Given the description of an element on the screen output the (x, y) to click on. 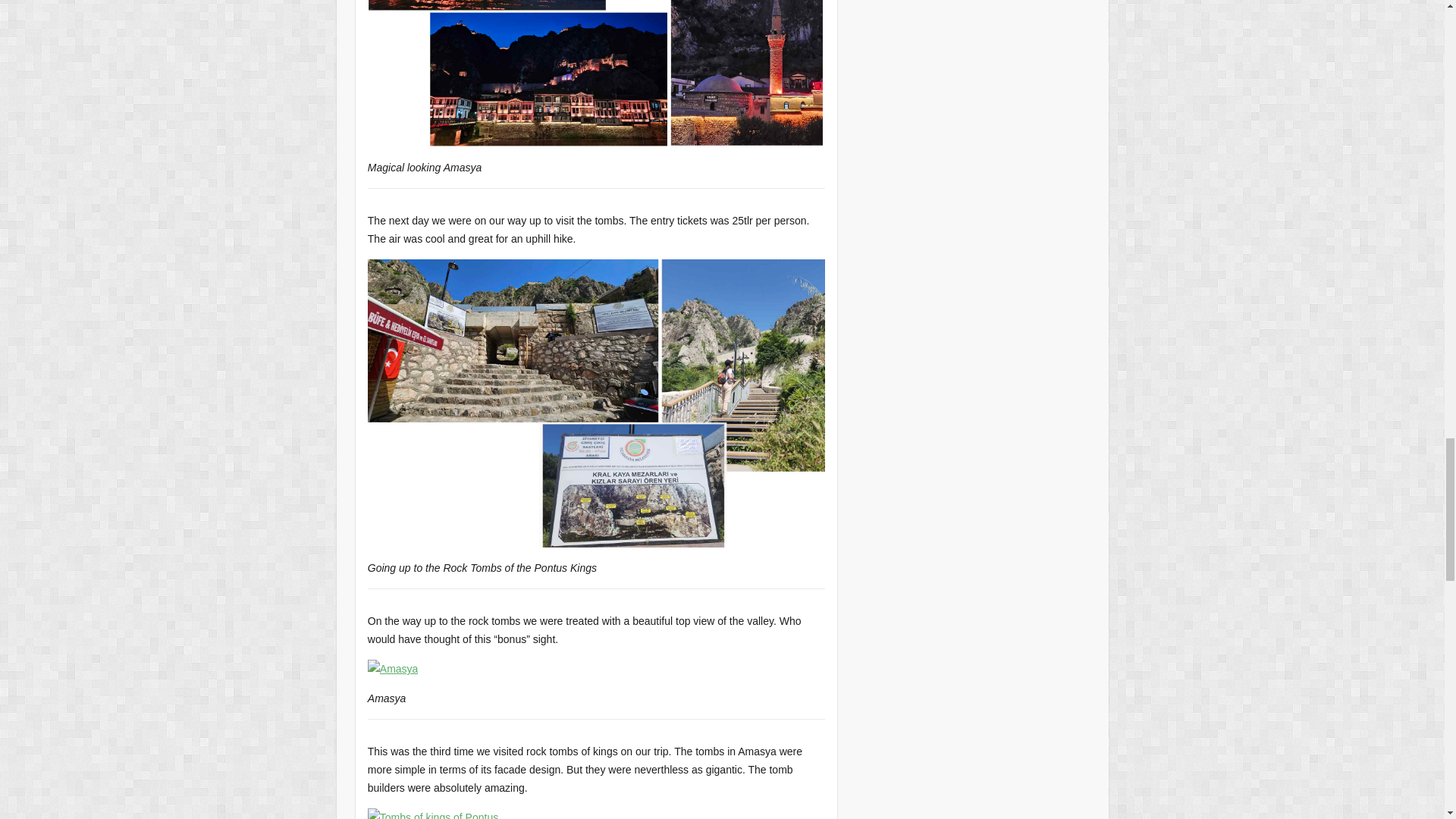
Magical looking Amasya (596, 73)
Going up to the Rock Tombs of the Pontus Kings (596, 403)
Tombs of kings of Pontus (432, 813)
Amasya (393, 669)
